Given the description of an element on the screen output the (x, y) to click on. 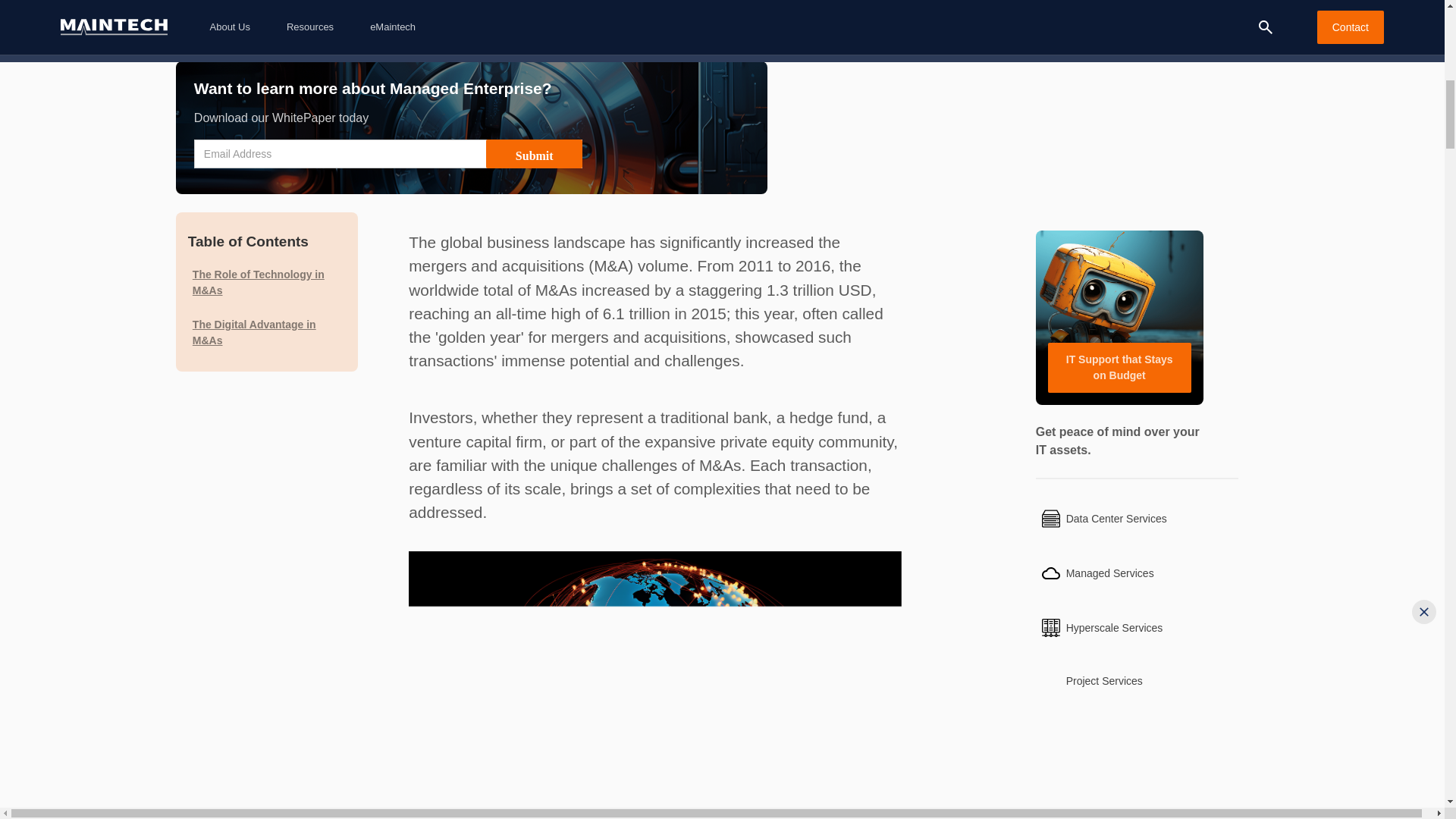
Submit (534, 153)
Submit (534, 153)
IT Support that Stays on Budget (1119, 317)
Data Center Services (1137, 518)
Hyperscale Services (1137, 627)
Managed Services (1137, 573)
